Given the description of an element on the screen output the (x, y) to click on. 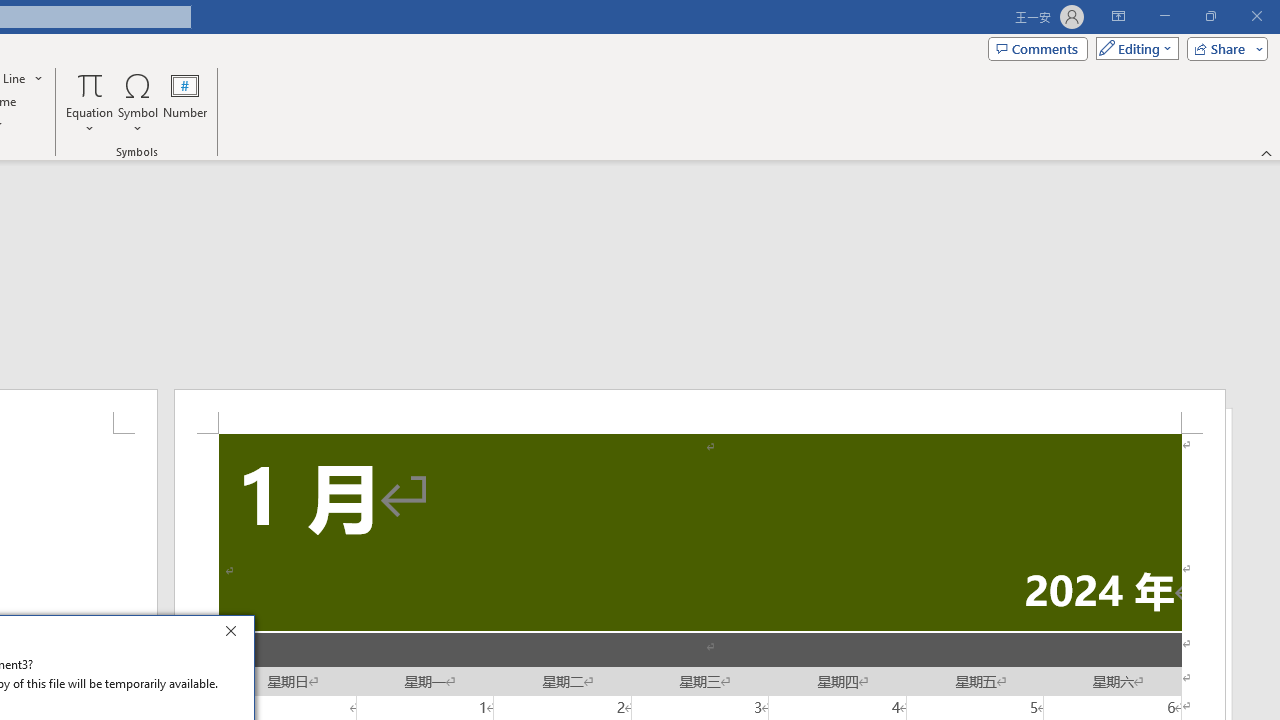
Equation (90, 84)
Header -Section 1- (700, 411)
Number... (185, 102)
Equation (90, 102)
